Given the description of an element on the screen output the (x, y) to click on. 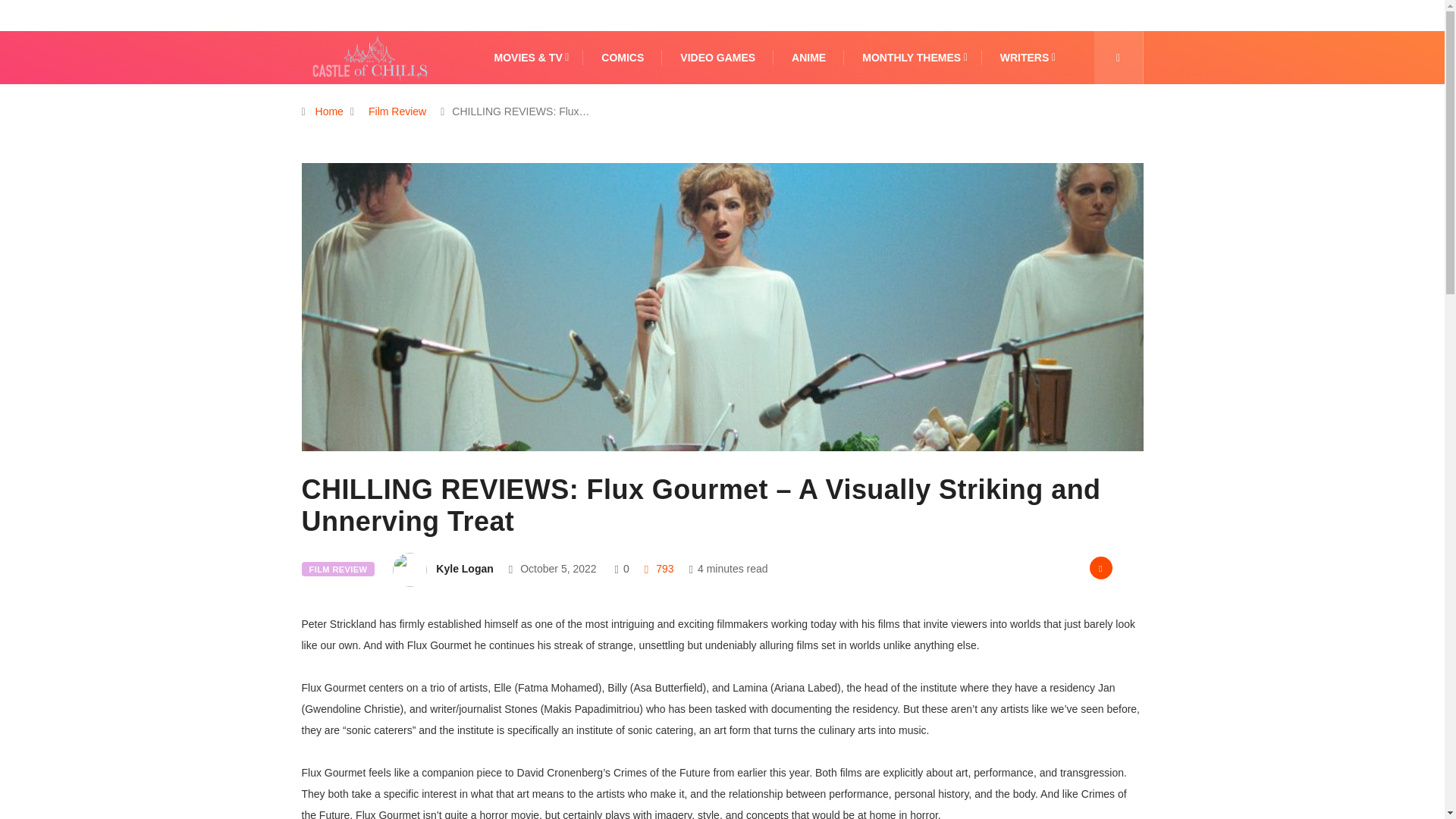
popup modal for search (1117, 57)
ANIME (808, 57)
MONTHLY THEMES (911, 57)
Film Review (396, 111)
0 (625, 568)
Kyle Logan (464, 568)
FILM REVIEW (338, 568)
WRITERS (1025, 57)
VIDEO GAMES (717, 57)
Home (329, 111)
COMICS (622, 57)
